Given the description of an element on the screen output the (x, y) to click on. 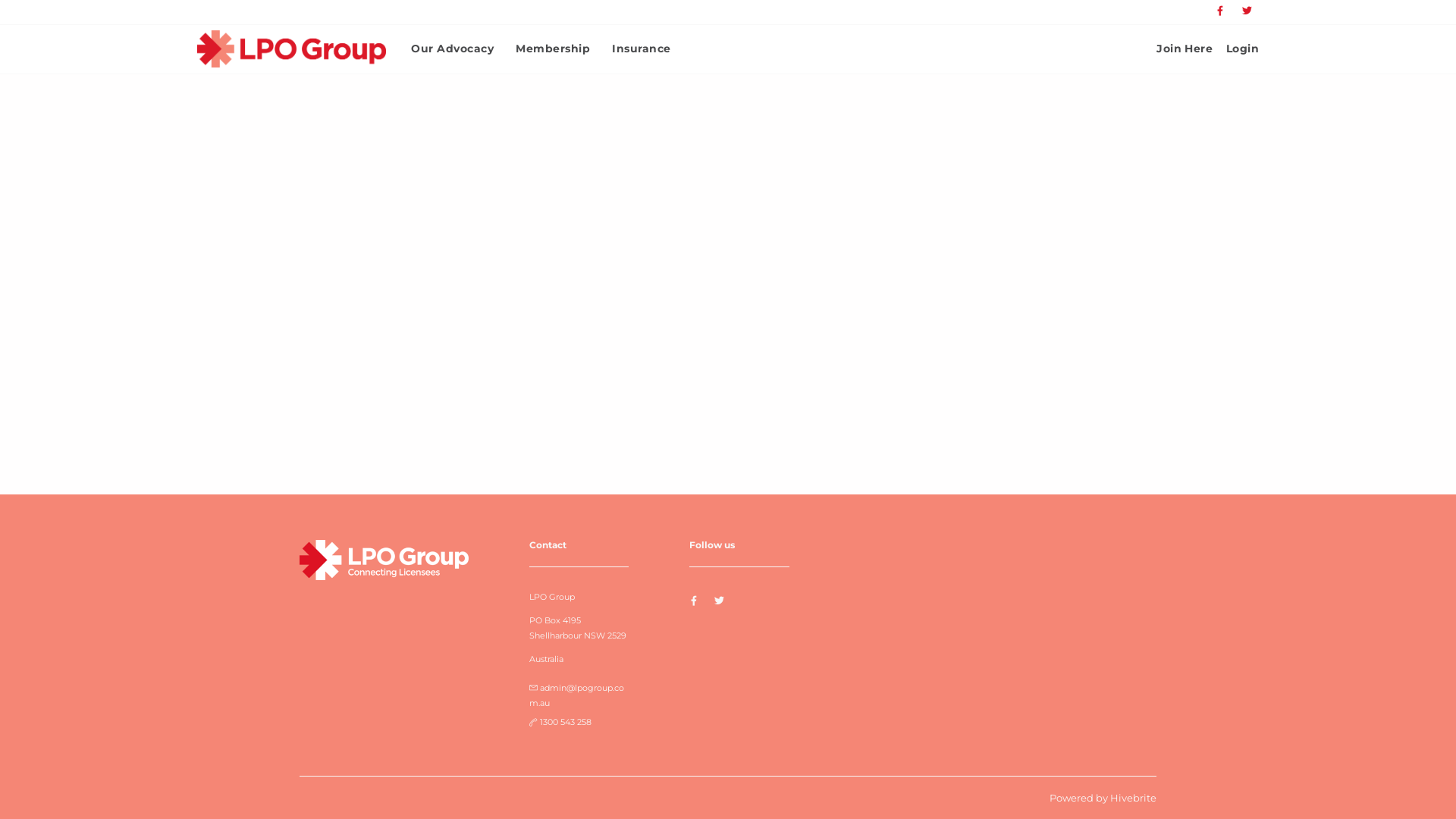
Login Element type: text (1242, 48)
LPO Group facebook profile Element type: hover (694, 600)
Insurance Element type: text (641, 48)
Our Advocacy Element type: text (452, 48)
Membership Element type: text (552, 48)
Join Here Element type: text (1184, 48)
Go to facebook page Element type: text (1220, 11)
admin@lpogroup.com.au Element type: text (576, 695)
LPO Group twitter profile Element type: hover (719, 600)
1300 543 258 Element type: text (565, 721)
Go to twitter page Element type: text (1246, 11)
Powered by Hivebrite Element type: text (1102, 797)
